Given the description of an element on the screen output the (x, y) to click on. 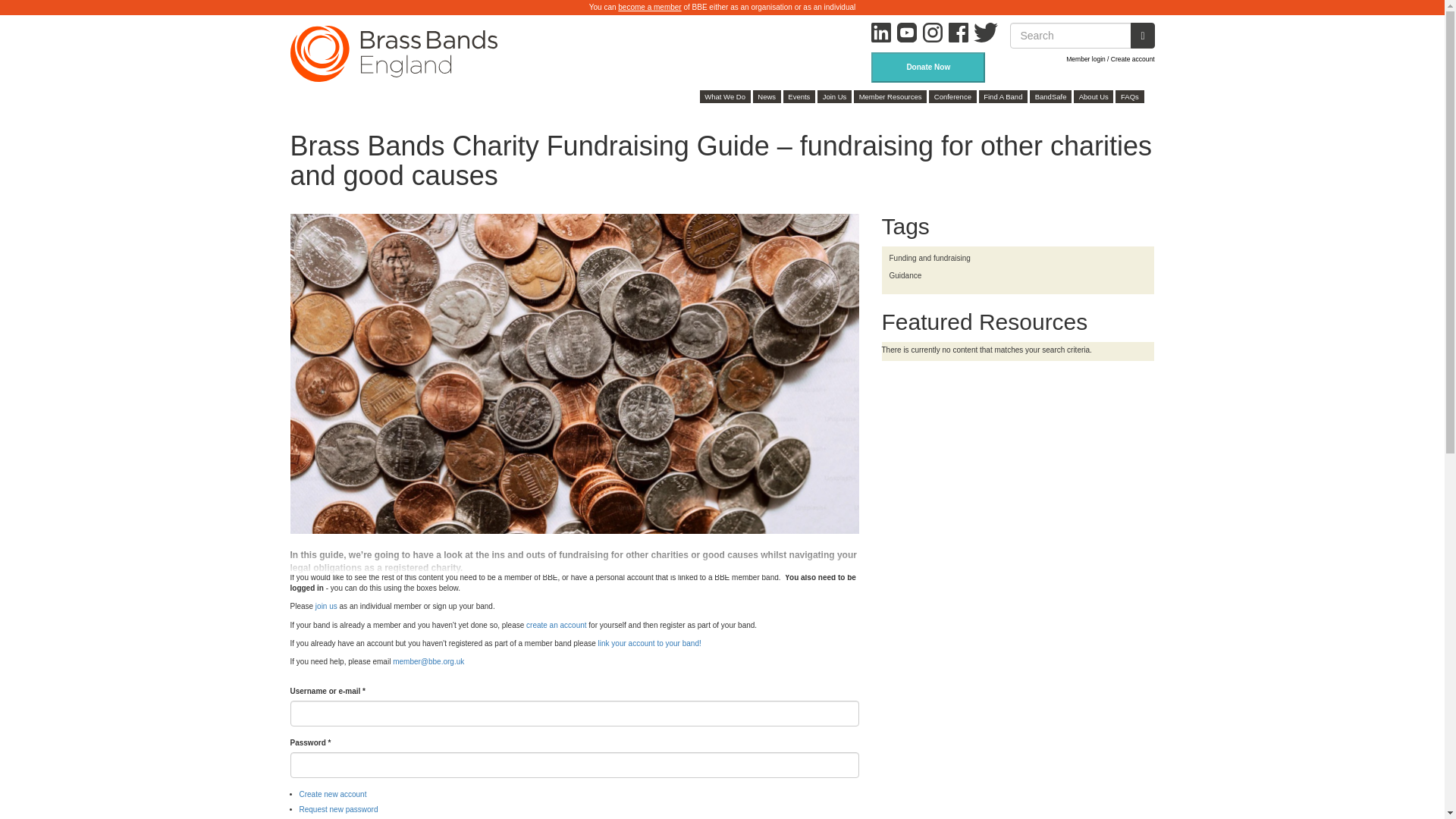
Home (398, 53)
FAQs (1128, 96)
create an account (555, 624)
link your account to your band! (649, 643)
Create a new user account. (332, 794)
Donate Now (927, 67)
Conference (951, 96)
Request new password via e-mail. (337, 809)
join us (326, 605)
BandSafe (1050, 96)
